Given the description of an element on the screen output the (x, y) to click on. 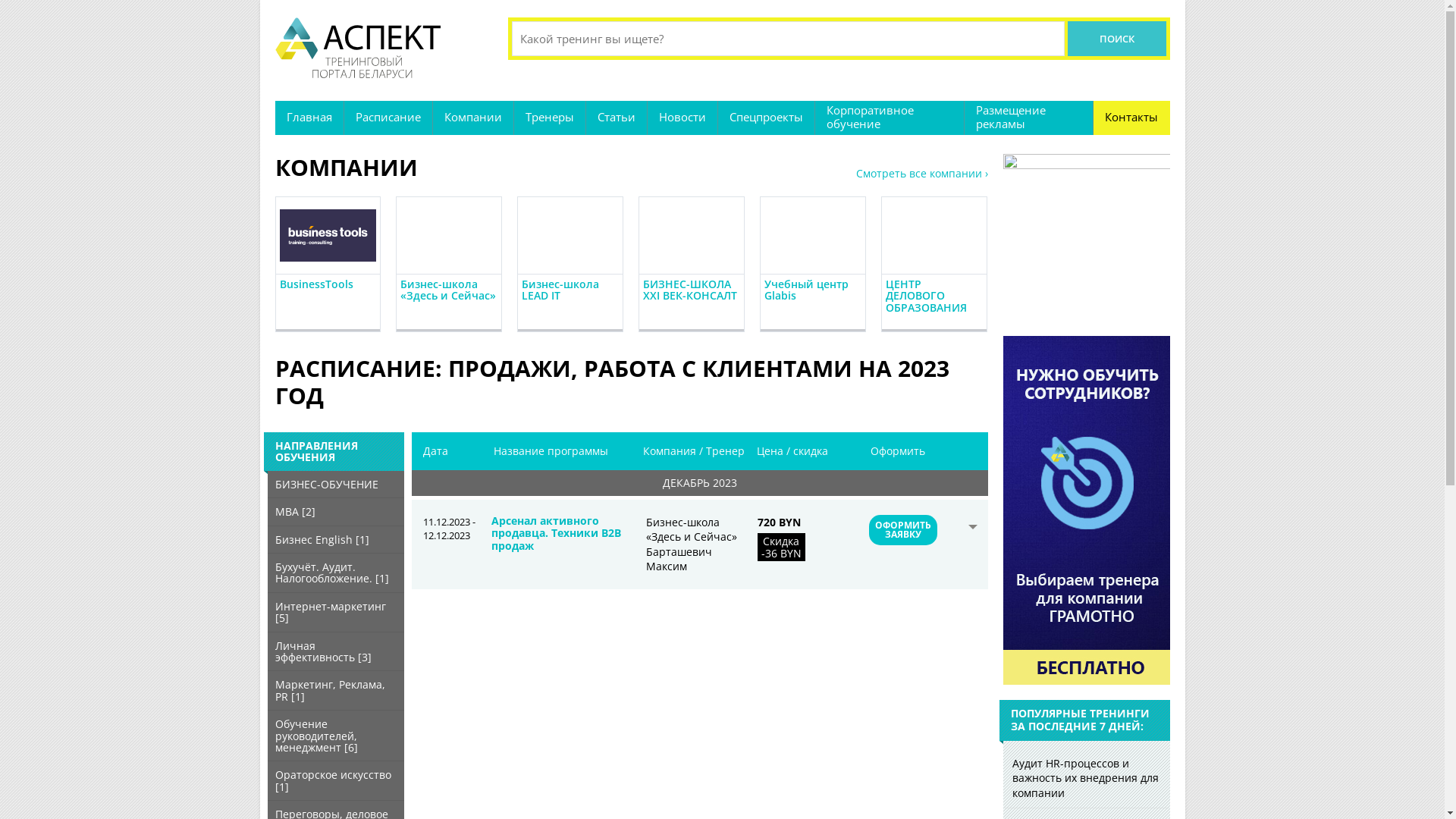
BusinessTools Element type: text (315, 283)
MBA Element type: text (286, 511)
